Given the description of an element on the screen output the (x, y) to click on. 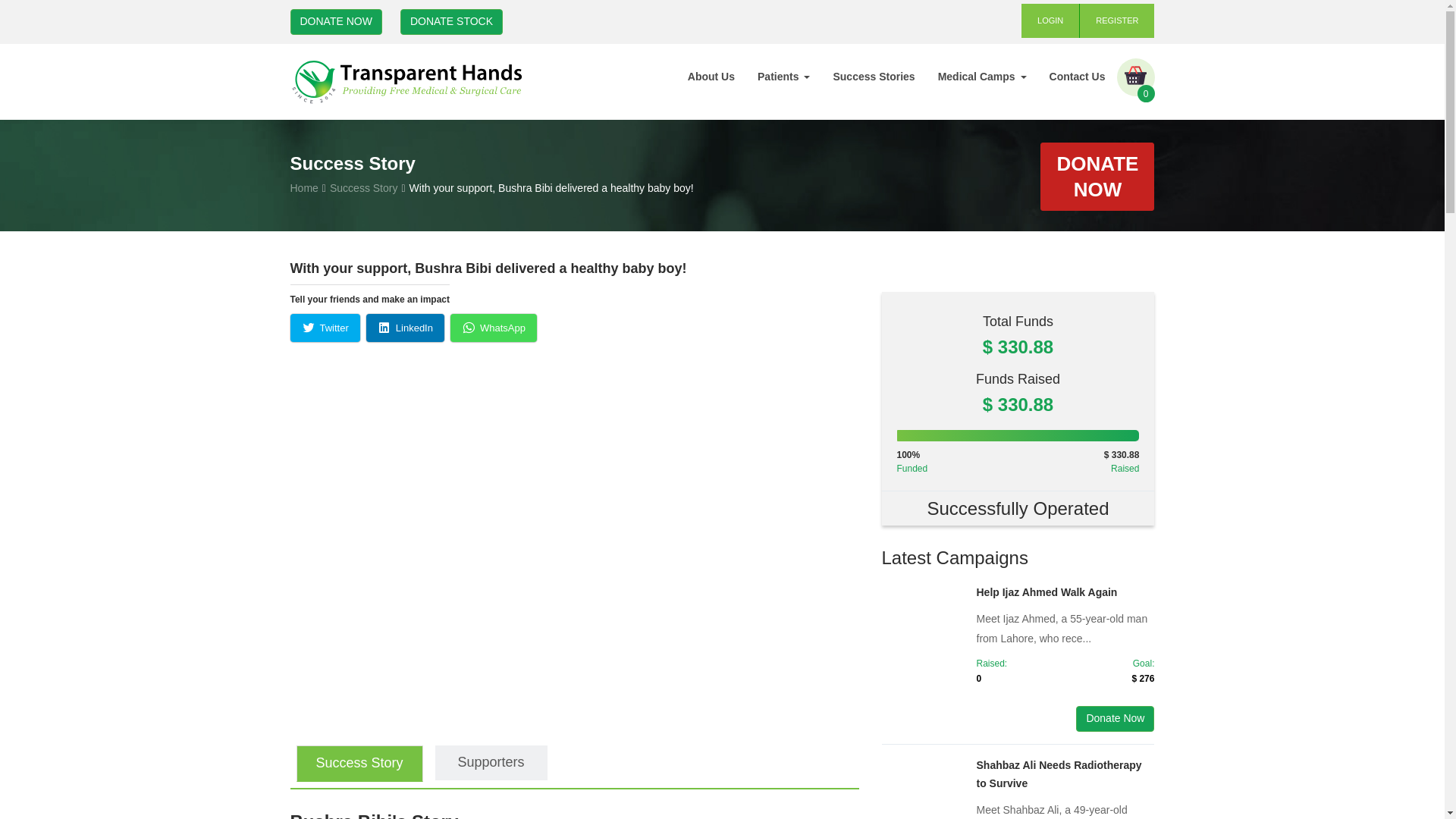
Success Stories (873, 76)
WhatsApp (493, 327)
Shahbaz Ali Needs Radiotherapy to Survive (1058, 774)
Help Ijaz Ahmed Walk Again (1047, 592)
Success Story (358, 763)
Medical Camps (982, 76)
Click to share on LinkedIn (405, 327)
Donate Now (1114, 718)
Home (303, 187)
Contact Us (1077, 76)
